Given the description of an element on the screen output the (x, y) to click on. 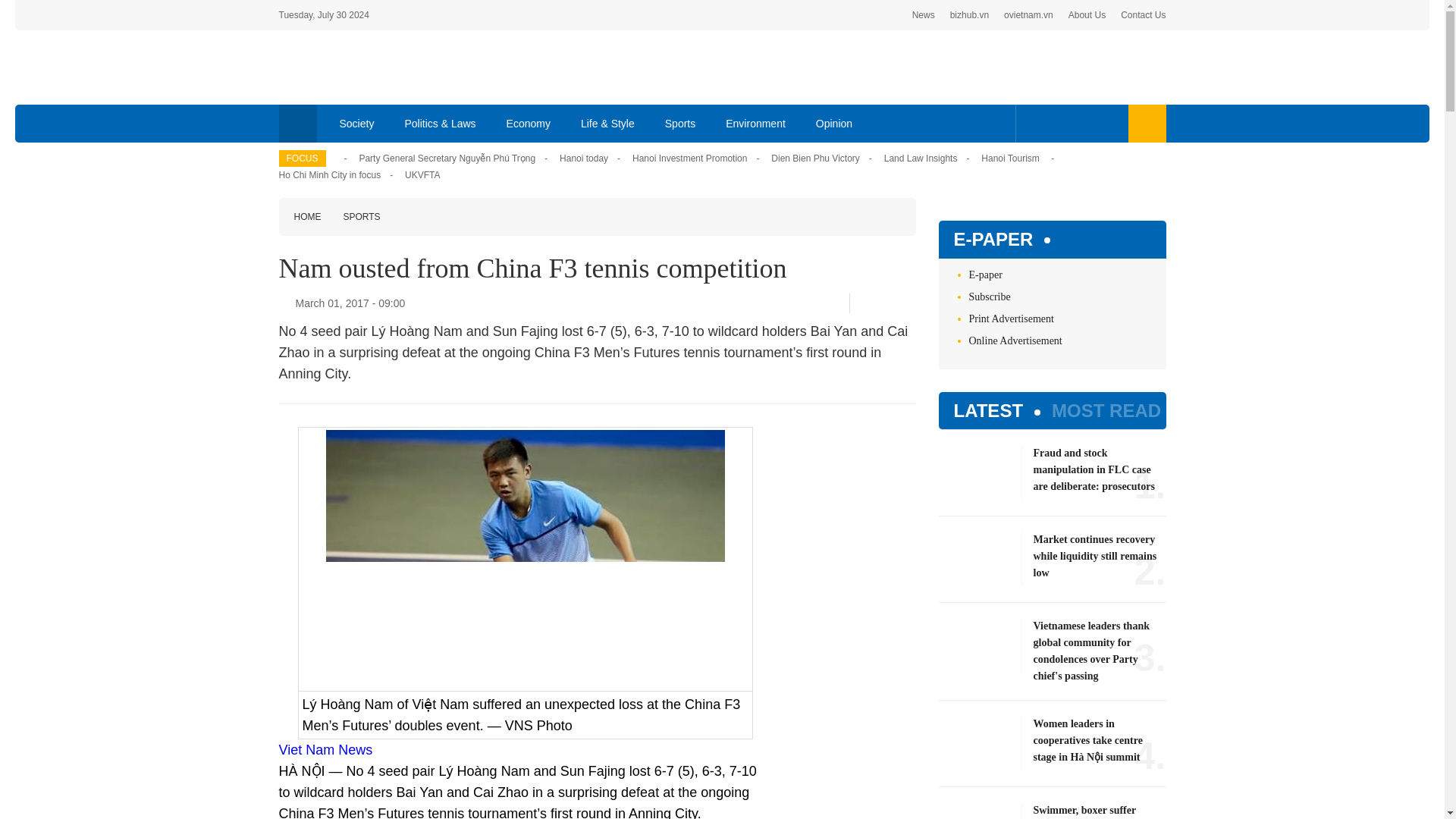
Facebook (1035, 123)
Viet Nam News (325, 749)
Contact Us (1143, 15)
Twitter (1056, 122)
Twitter (885, 303)
Youtube (1081, 122)
bizhub.vn (969, 15)
Economy (529, 123)
Society (357, 123)
About Us (1086, 15)
News (923, 15)
Instagram (1106, 123)
Sports (679, 123)
ovietnam.vn (1028, 15)
Email (909, 303)
